Given the description of an element on the screen output the (x, y) to click on. 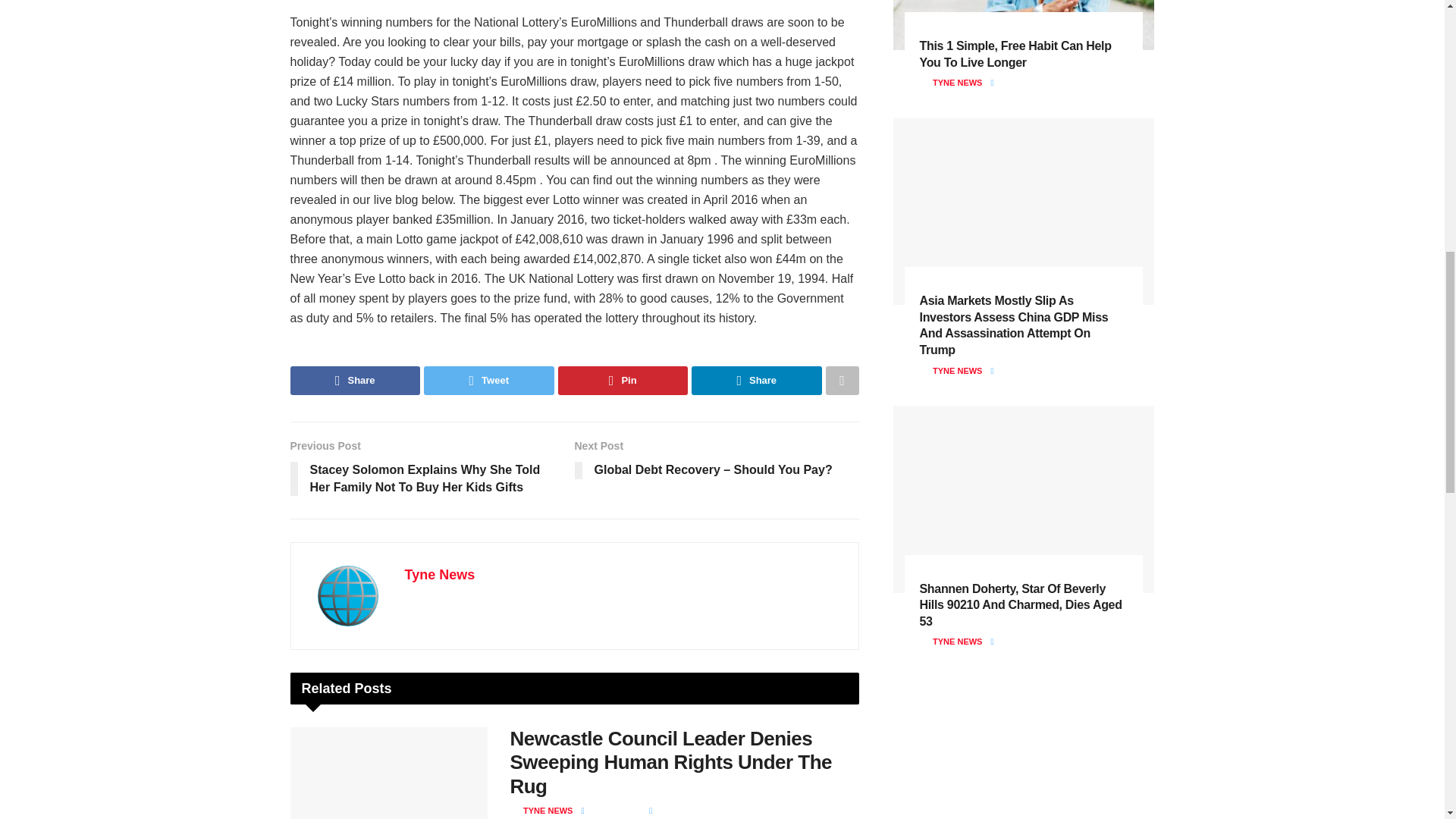
Tweet (488, 380)
Share (354, 380)
